Given the description of an element on the screen output the (x, y) to click on. 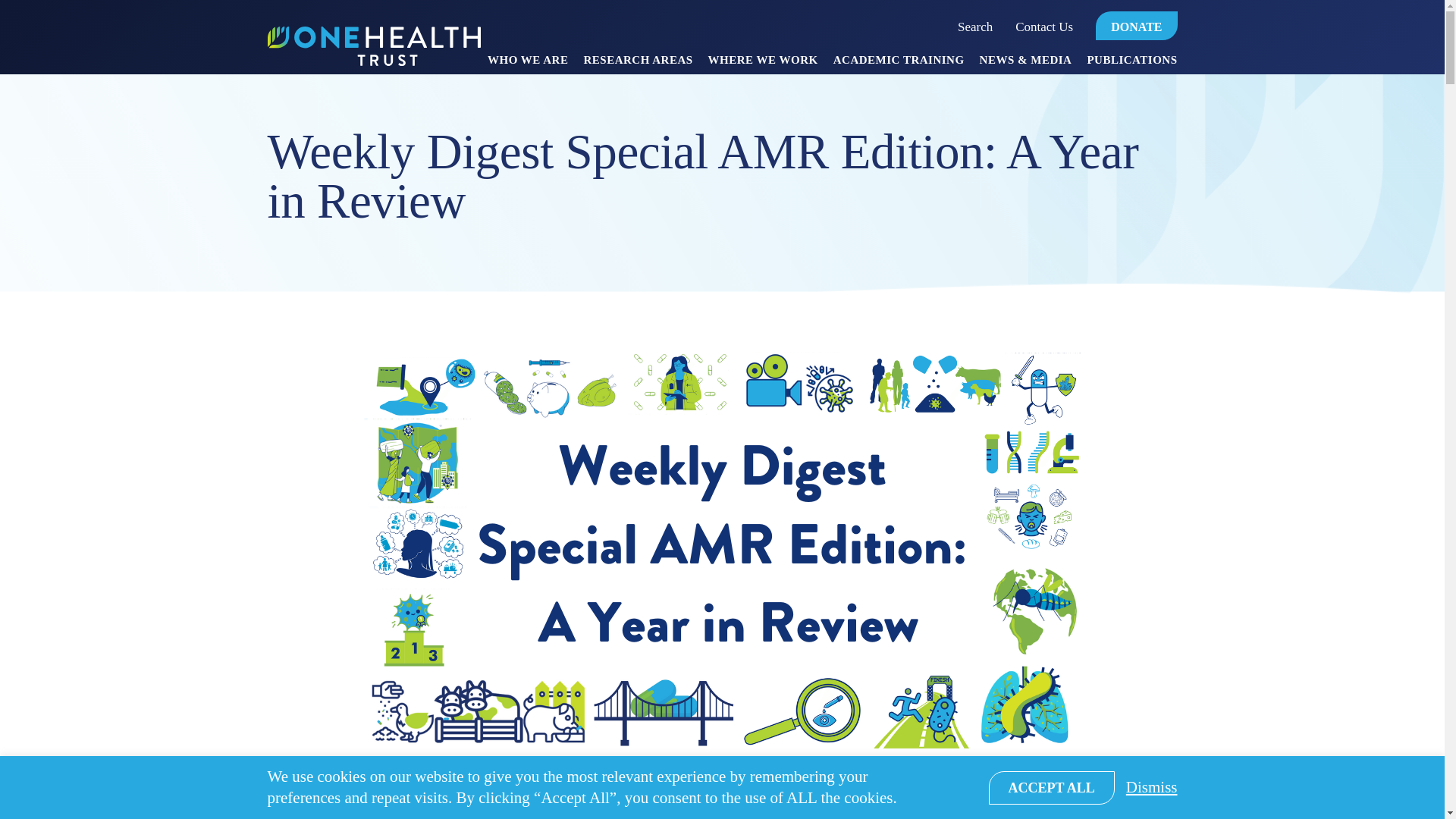
ACADEMIC TRAINING (897, 63)
Search (975, 26)
WHO WE ARE (527, 63)
PUBLICATIONS (1131, 63)
RESEARCH AREAS (638, 63)
Contact Us (1044, 26)
DONATE (1136, 25)
WHERE WE WORK (762, 63)
